Given the description of an element on the screen output the (x, y) to click on. 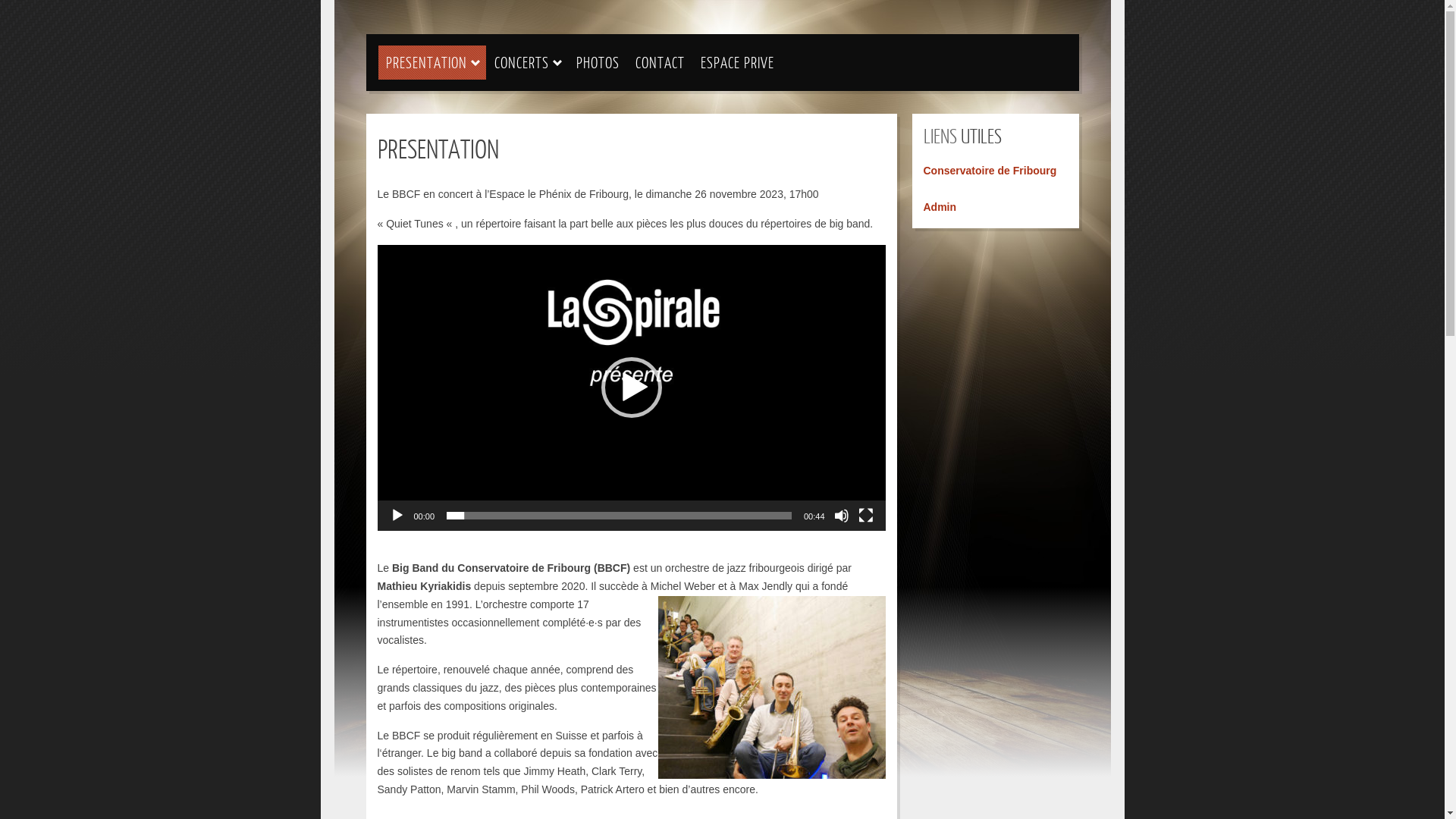
CONTACT Element type: text (659, 62)
PHOTOS Element type: text (597, 62)
Conservatoire de Fribourg Element type: text (990, 170)
Lecture Element type: hover (396, 515)
PRESENTATION Element type: text (425, 62)
Admin Element type: text (940, 206)
CONCERTS Element type: text (521, 62)
Muet Element type: hover (841, 515)
ESPACE PRIVE Element type: text (737, 62)
